Given the description of an element on the screen output the (x, y) to click on. 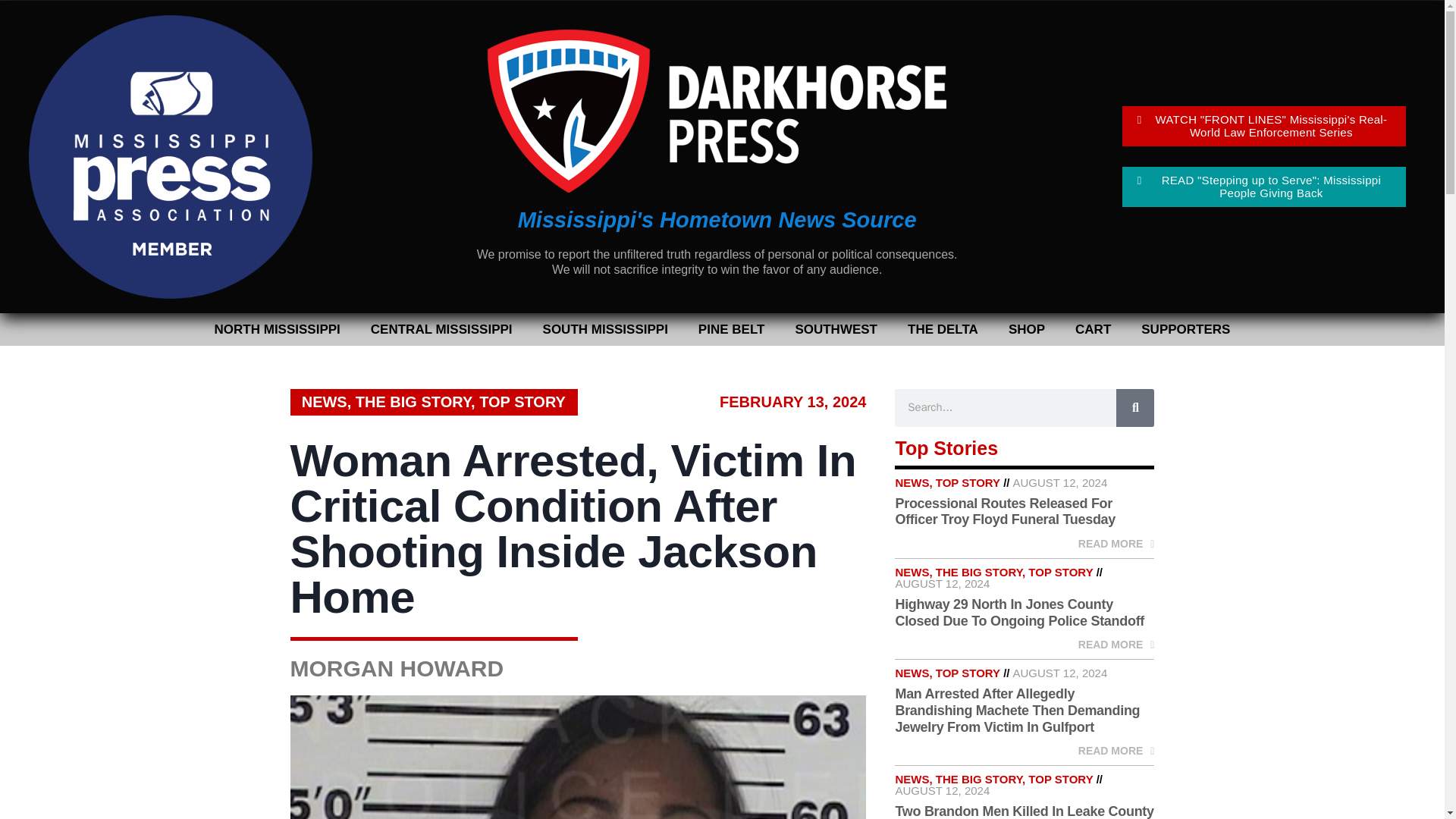
PINE BELT (731, 328)
READ "Stepping up to Serve": Mississippi People Giving Back (1264, 187)
CENTRAL MISSISSIPPI (441, 328)
NORTH MISSISSIPPI (277, 328)
SHOP (1025, 328)
THE DELTA (942, 328)
SUPPORTERS (1184, 328)
NEWS (324, 401)
THE BIG STORY (412, 401)
